Given the description of an element on the screen output the (x, y) to click on. 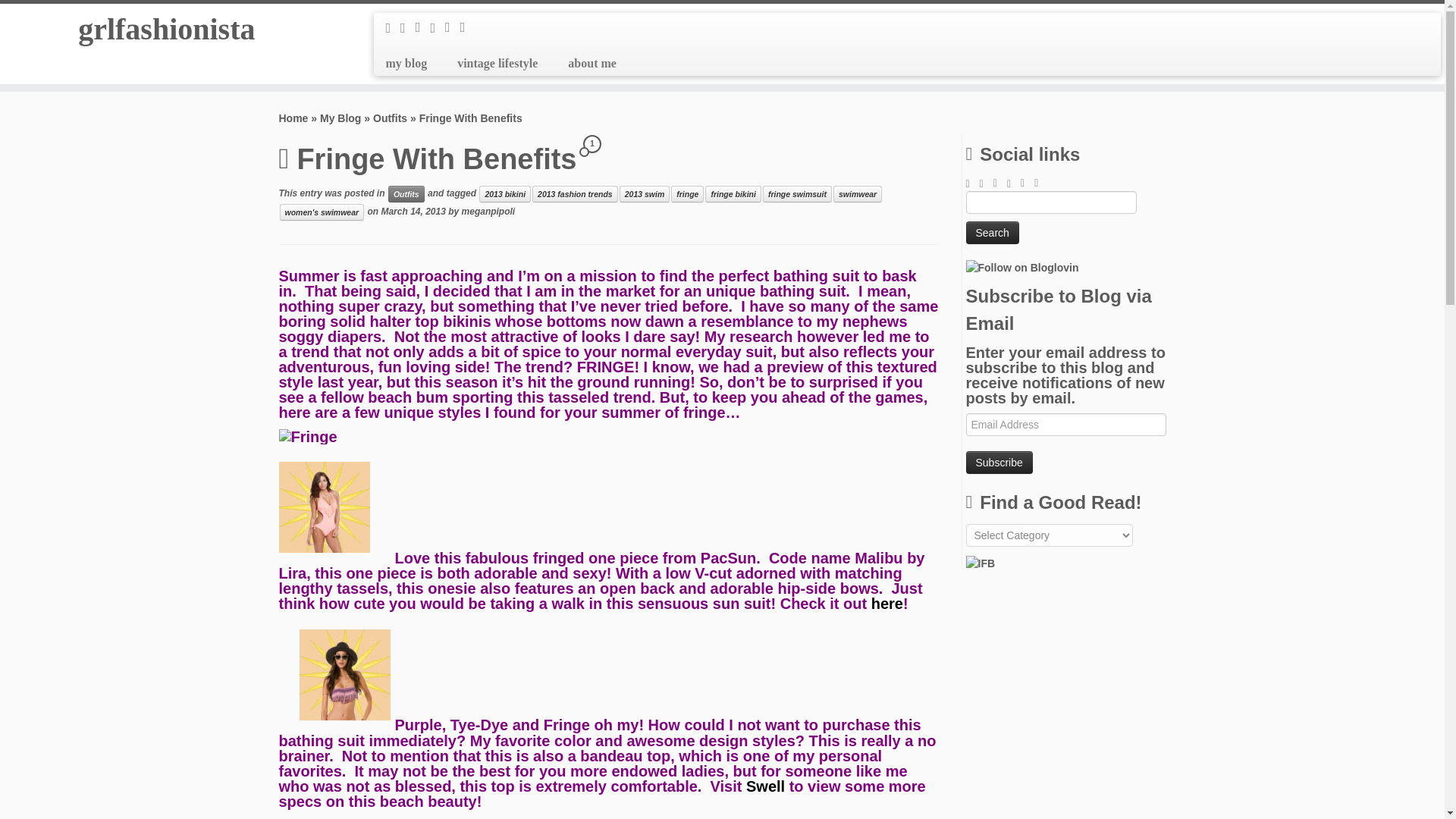
here (886, 603)
View all posts in Outfits (406, 193)
Follow me on Instagram (437, 28)
my blog (411, 63)
Search (992, 232)
swimwear (857, 193)
View all posts in 2013 fashion trends (574, 193)
fringe swimsuit (796, 193)
2013 fashion trends (574, 193)
Pin me on Pinterest (452, 27)
View all posts in 2013 swim (644, 193)
Outfits (389, 118)
fringe bikini (732, 193)
fringe (687, 193)
meganpipoli (488, 211)
